Given the description of an element on the screen output the (x, y) to click on. 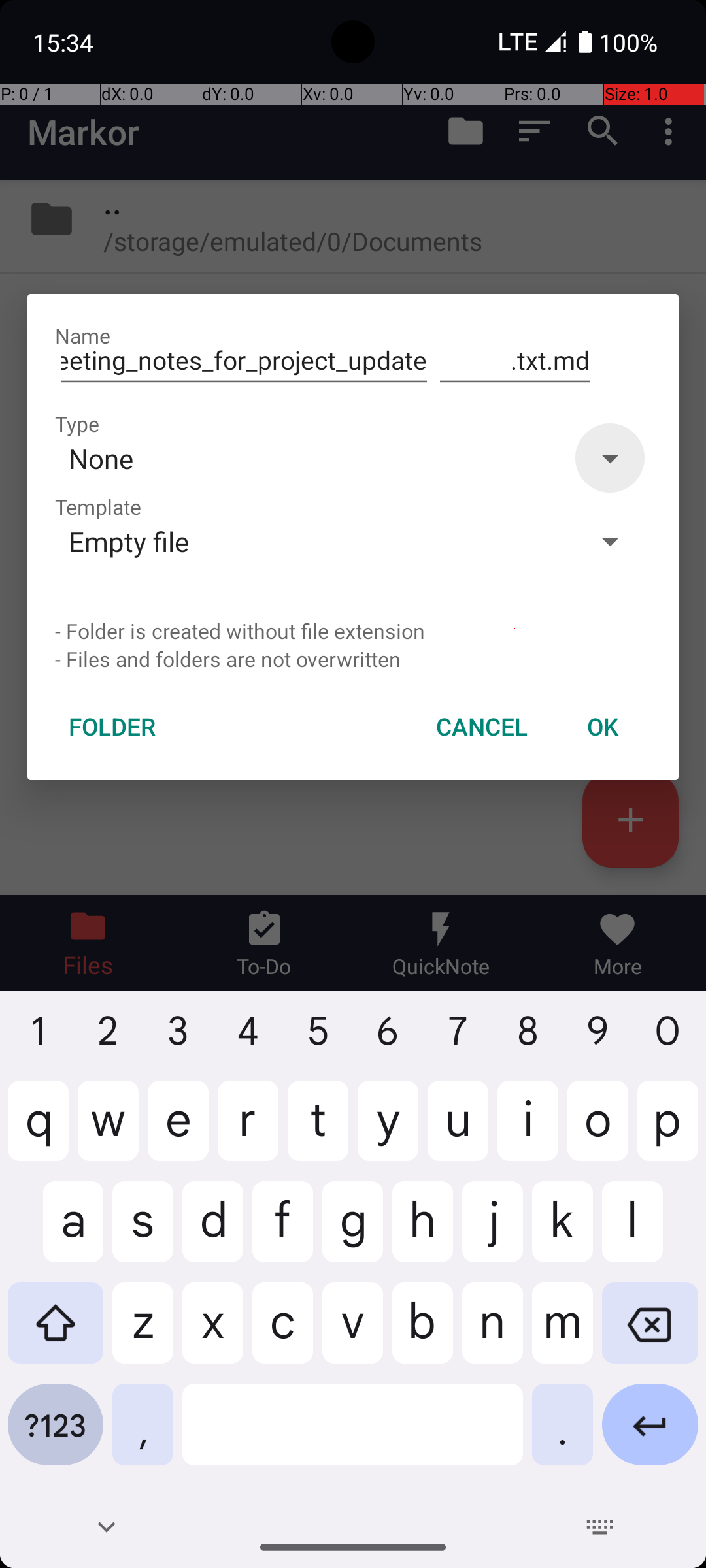
Meeting_notes_for_project_update Element type: android.widget.EditText (243, 360)
.txt.md Element type: android.widget.EditText (514, 360)
